Given the description of an element on the screen output the (x, y) to click on. 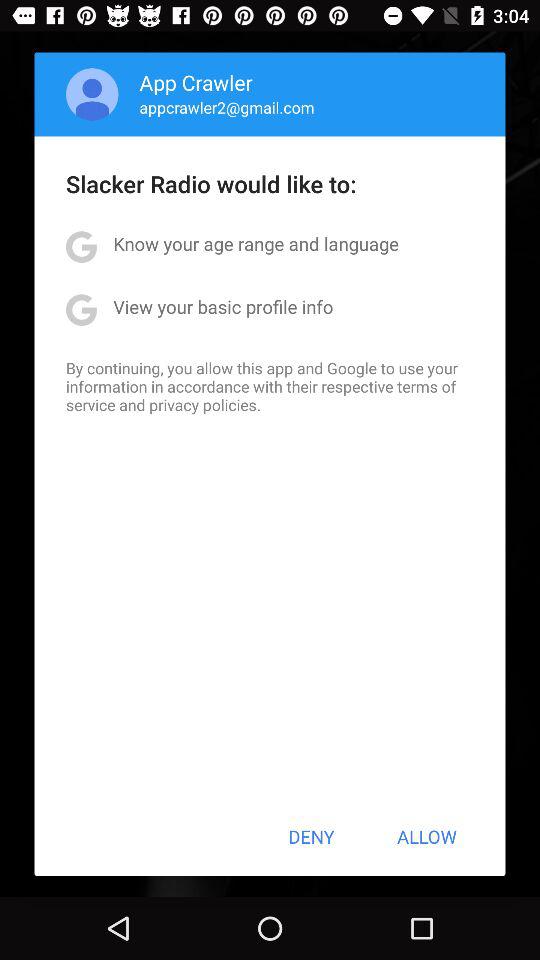
press app crawler icon (195, 82)
